Given the description of an element on the screen output the (x, y) to click on. 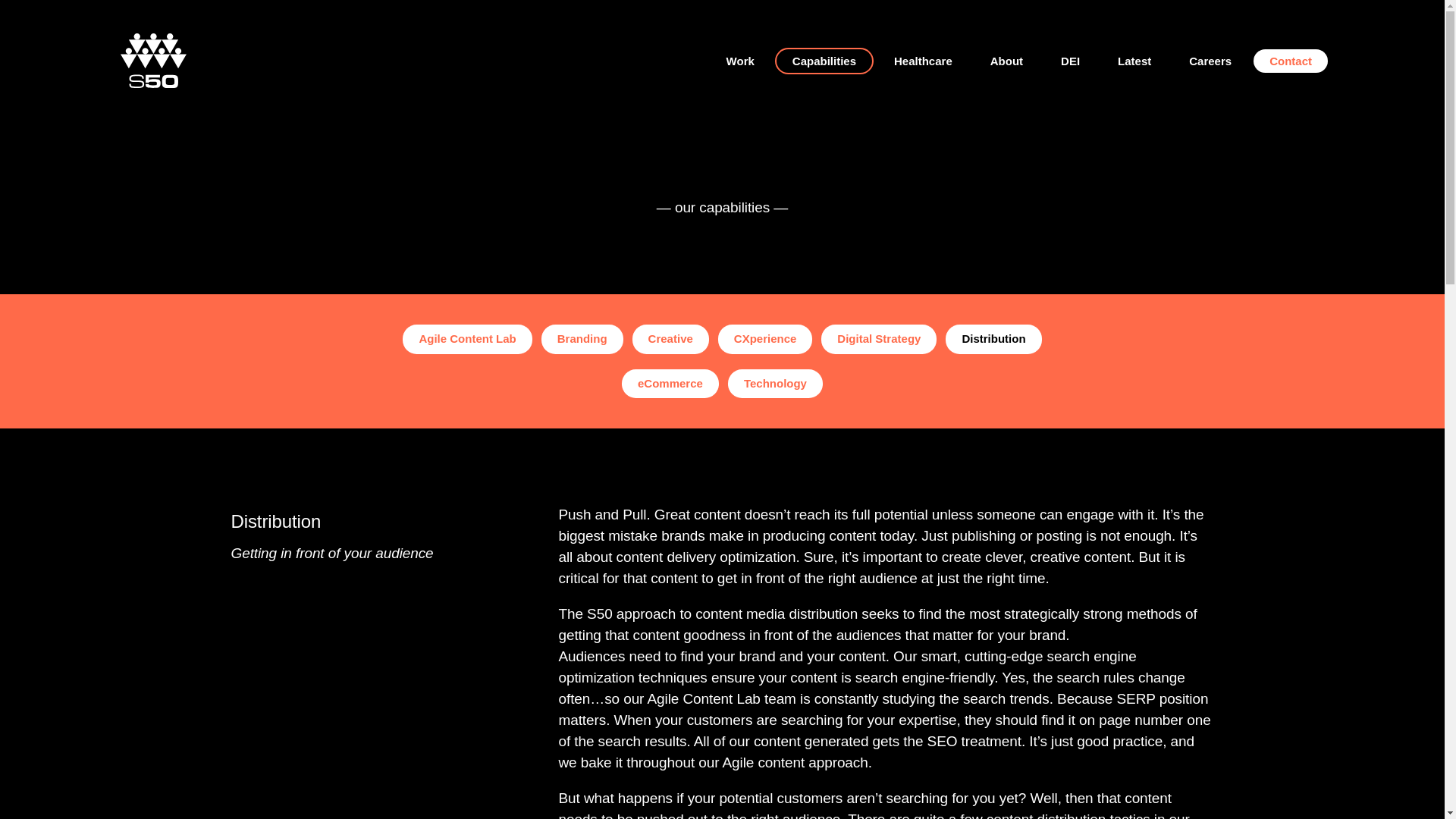
eCommerce (670, 383)
Digital Strategy (878, 338)
Branding (582, 338)
DEI (1070, 60)
Distribution (992, 338)
Healthcare (922, 60)
Work (740, 60)
Careers (1210, 60)
Latest (1134, 60)
Agile Content Lab (467, 338)
About (1006, 60)
Technology (775, 383)
CXperience (764, 338)
Creative (670, 338)
Capabilities (824, 60)
